Given the description of an element on the screen output the (x, y) to click on. 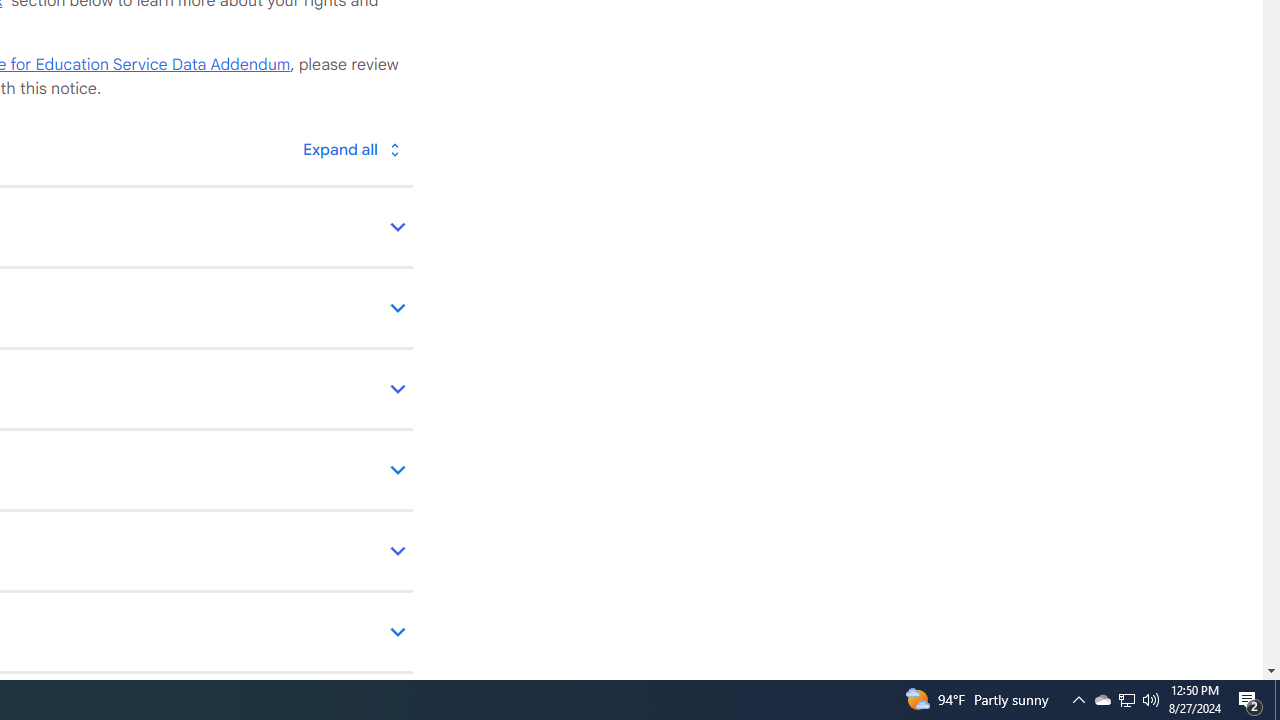
Toggle all (351, 148)
